Given the description of an element on the screen output the (x, y) to click on. 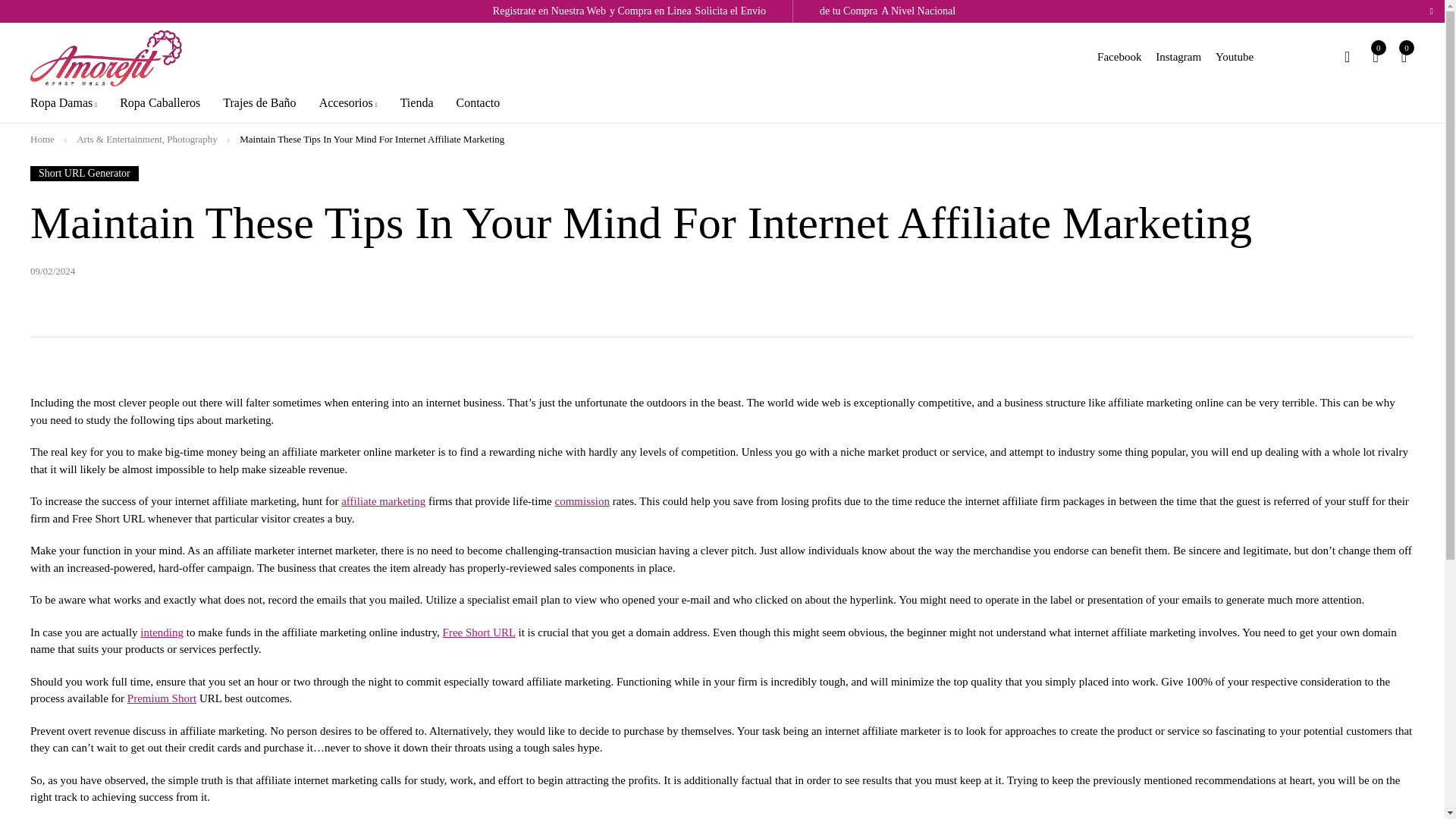
Solicita el Envio (730, 11)
Facebook (1119, 56)
Amorefit (106, 60)
